Given the description of an element on the screen output the (x, y) to click on. 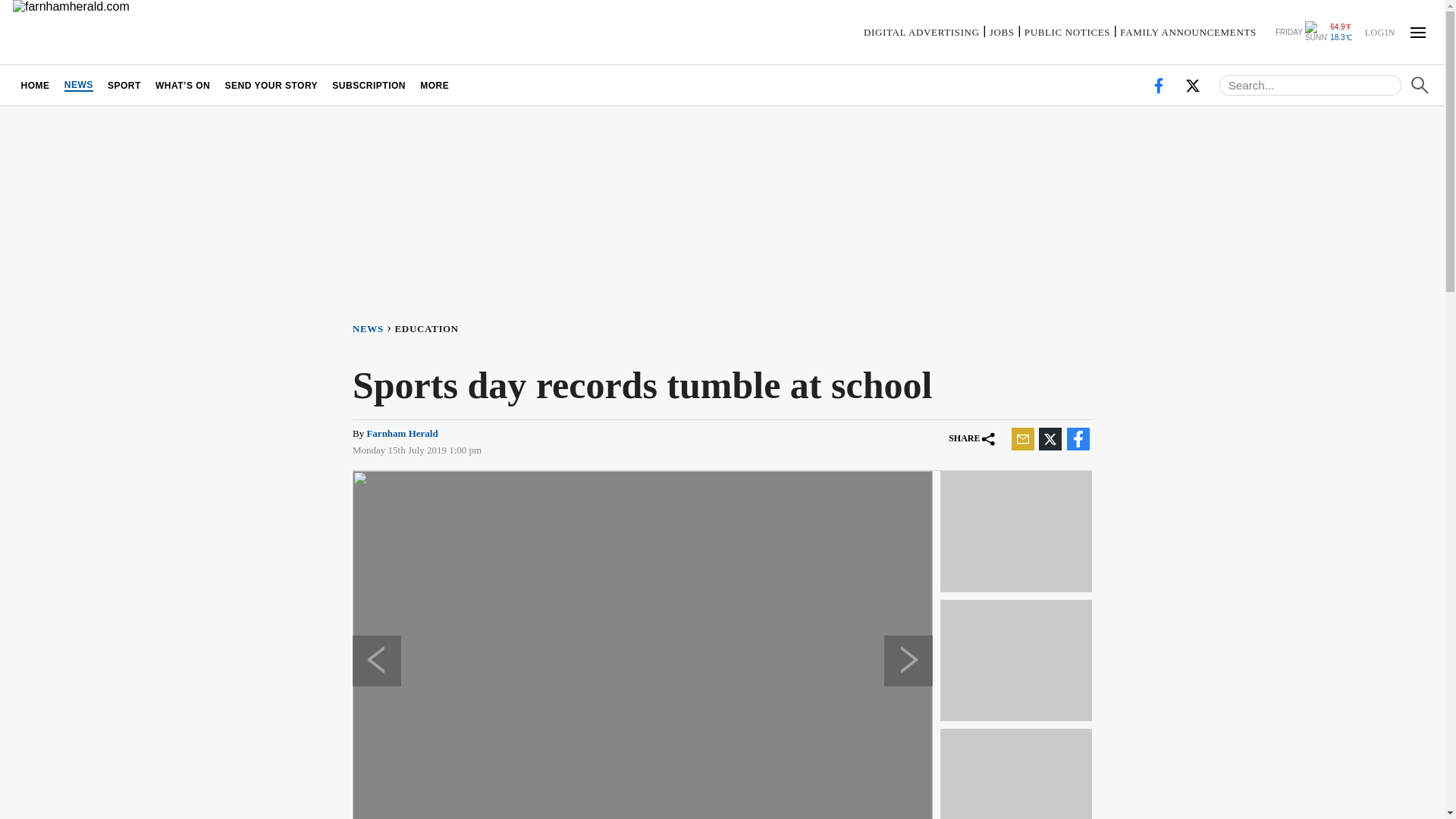
HOME (34, 85)
NEWS (78, 85)
EDUCATION (429, 328)
SEND YOUR STORY (270, 85)
SUBSCRIPTION (368, 85)
FAMILY ANNOUNCEMENTS (1187, 32)
MORE (435, 85)
SPORT (124, 85)
Farnham Herald (402, 432)
LOGIN (1379, 31)
